Given the description of an element on the screen output the (x, y) to click on. 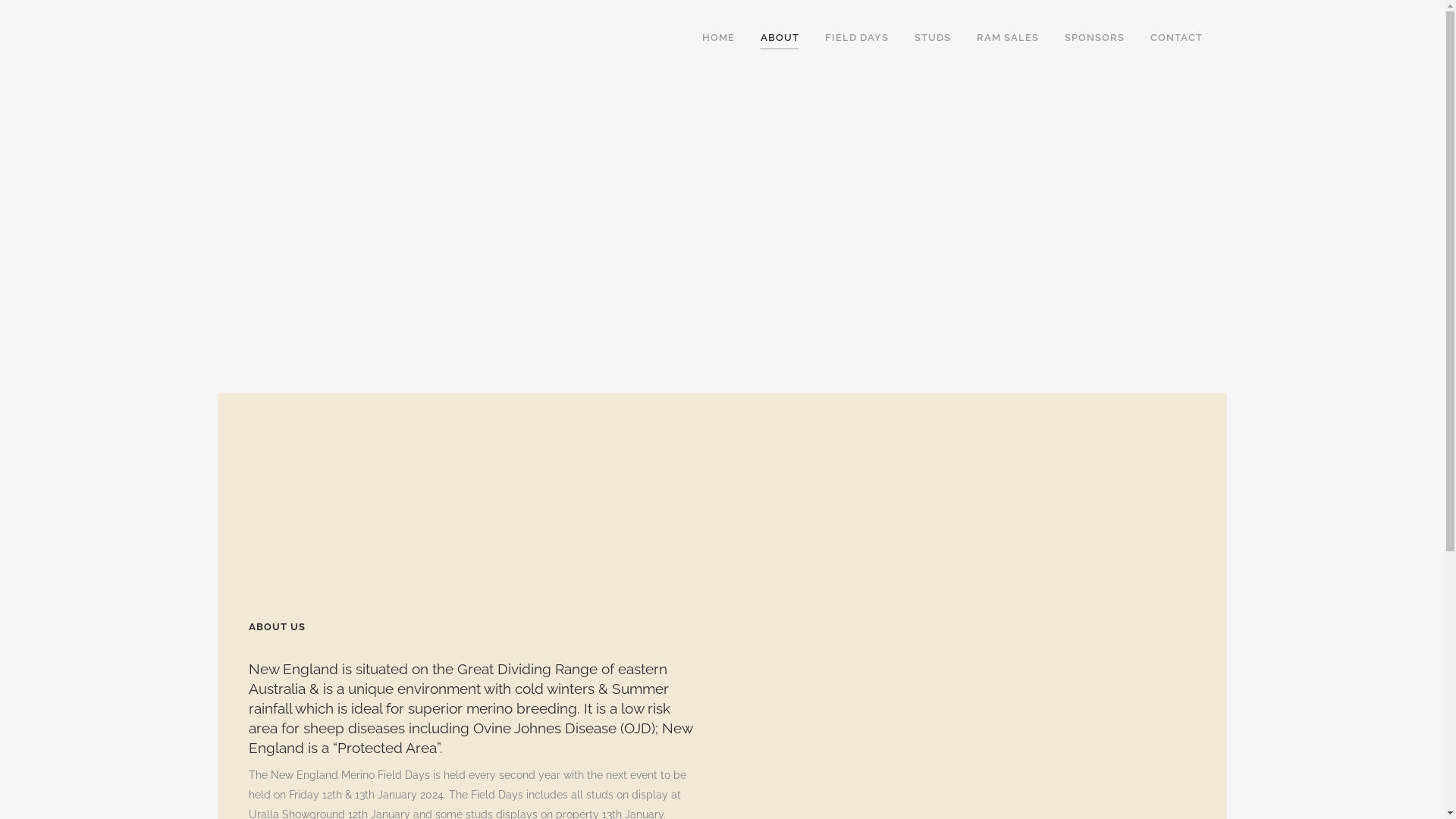
STUDS Element type: text (931, 37)
RAM SALES Element type: text (1007, 37)
Genburnie Merino Stud Element type: text (285, 513)
Terms Element type: text (863, 466)
SPONSORS Element type: text (1093, 37)
Kurrajong Park Element type: text (265, 552)
Airlie Merino & Poll Merino Stud Element type: text (306, 434)
Mirani & Mirani Poll Element type: text (276, 631)
Queenlee Merino Stud Element type: text (283, 671)
CONTACT Element type: text (1176, 37)
FIELD DAYS Element type: text (855, 37)
Maisters Swamp Element type: text (270, 611)
Sitemap Element type: text (863, 432)
Alfoxton Element type: text (249, 454)
ABOUT Element type: text (779, 37)
Privacy Element type: text (863, 449)
ALTERNATION Element type: text (832, 546)
Cressbrook Element type: text (257, 493)
Karori Element type: text (243, 533)
Shalimar Park Element type: text (263, 690)
Stanley Vale Element type: text (260, 710)
Nerstane Element type: text (251, 651)
Waverly Downs Element type: text (267, 730)
Clovernook Element type: text (256, 473)
Yalgoo Merino Stud Element type: text (277, 769)
HOME Element type: text (717, 37)
Lorelmo Poll Merinos Element type: text (281, 572)
Westvale Element type: text (252, 749)
